Given the description of an element on the screen output the (x, y) to click on. 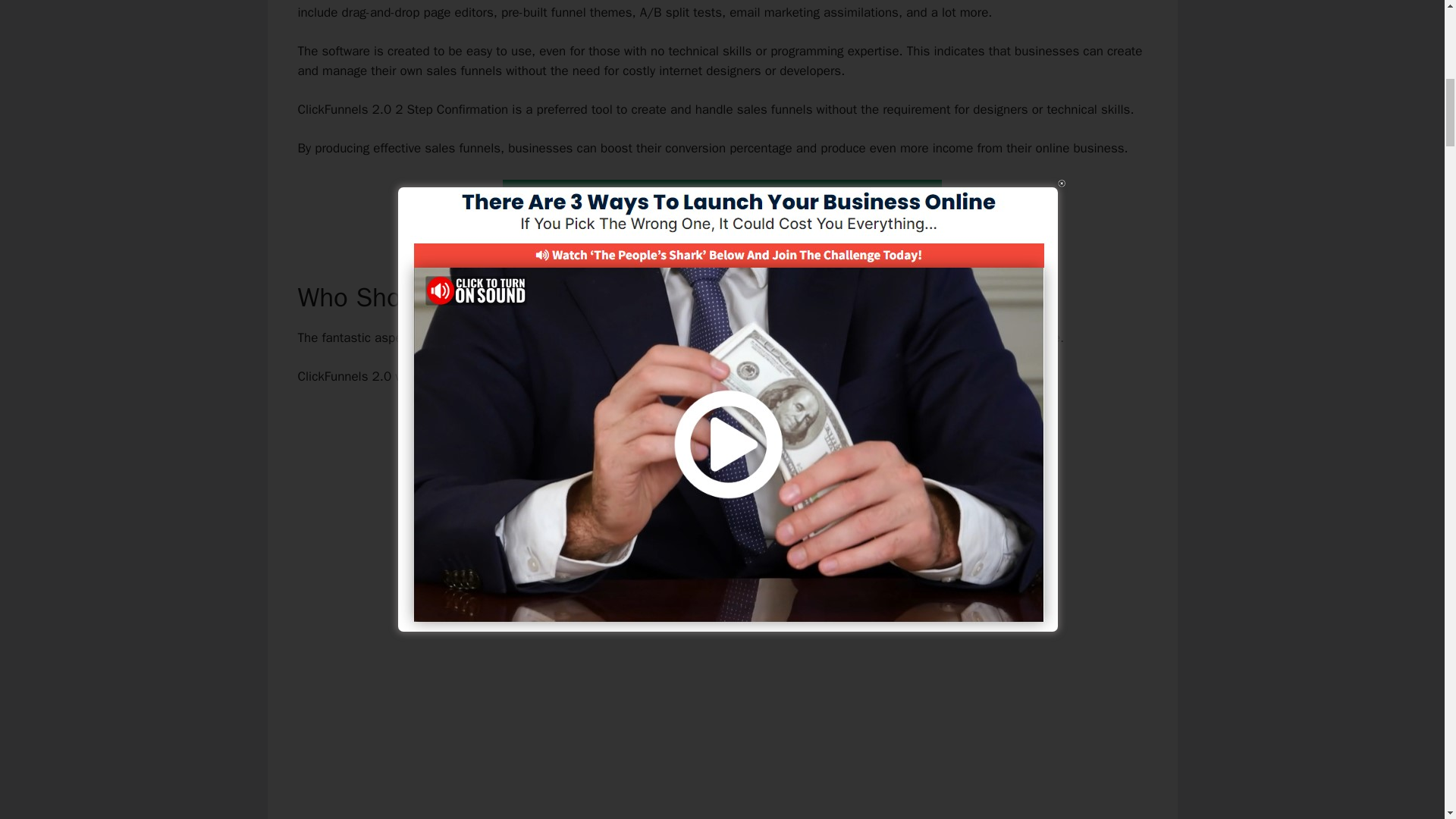
Visit Here To Watch ClickFunnels 2.0 In Action Today (722, 200)
